Given the description of an element on the screen output the (x, y) to click on. 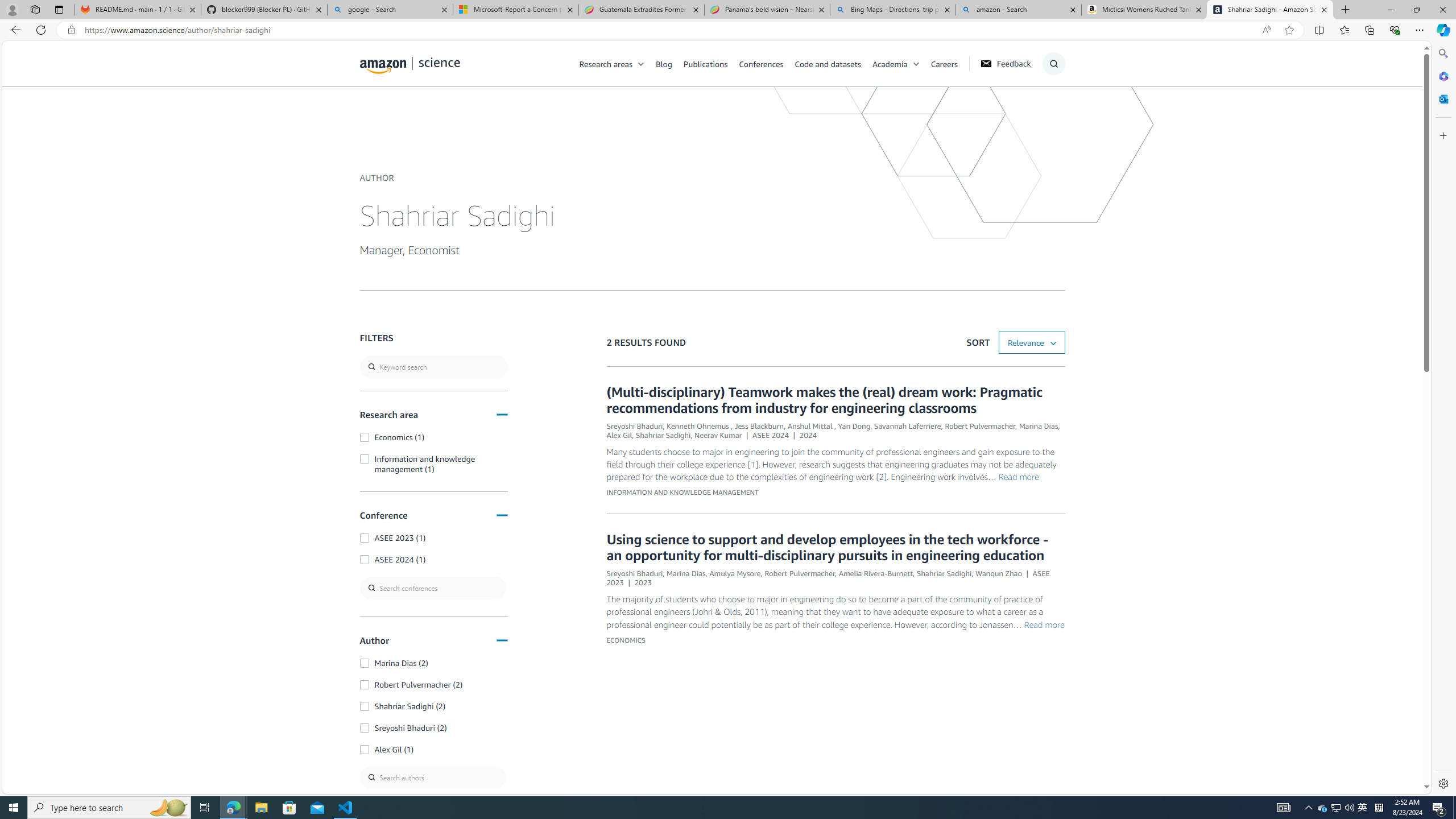
Submit Search (1049, 108)
Careers (944, 63)
Jess Blackburn (758, 425)
Conferences (760, 63)
Academia (901, 63)
Careers (949, 63)
Robert Pulvermacher (799, 573)
